Given the description of an element on the screen output the (x, y) to click on. 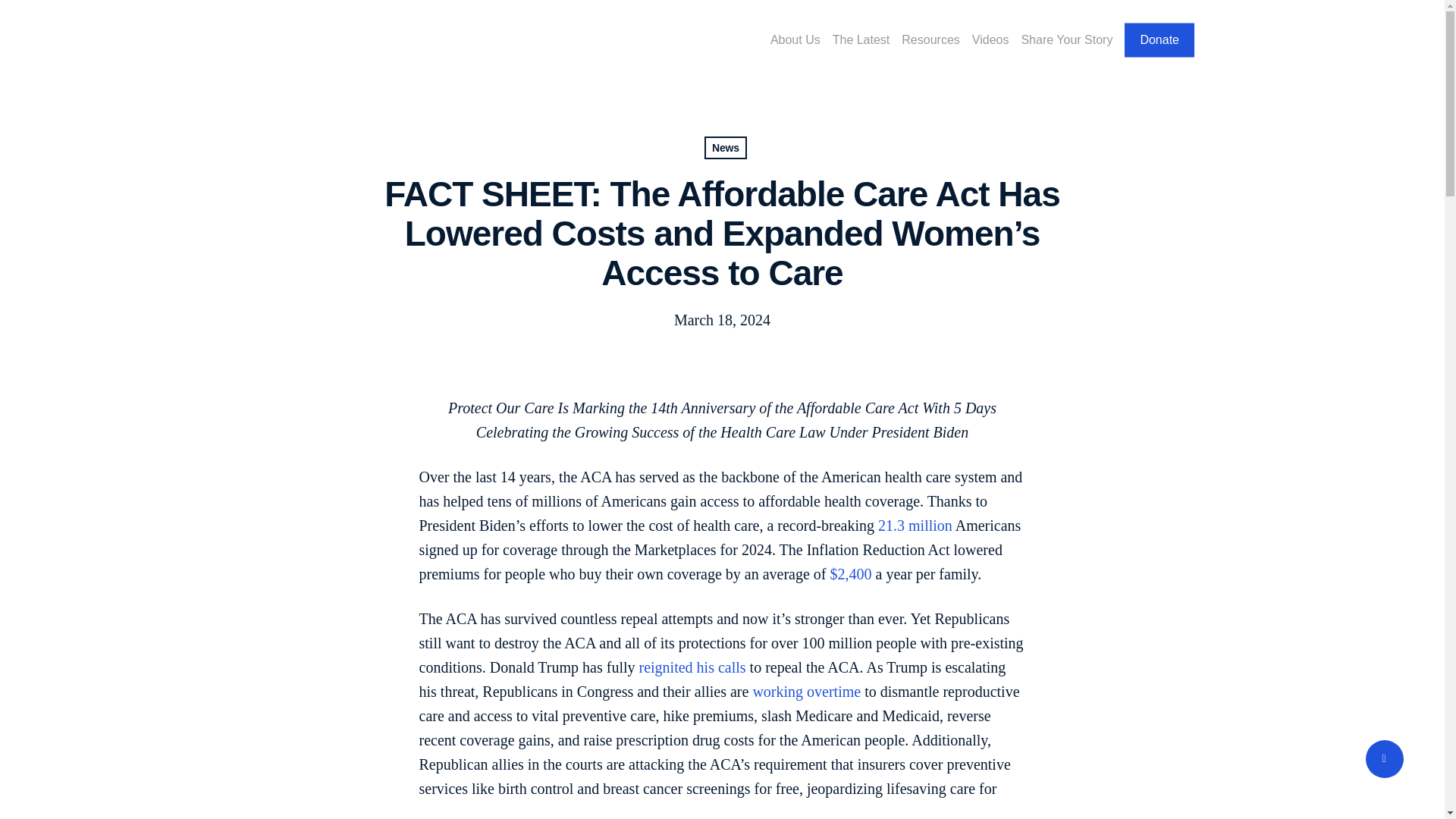
Donate (1158, 39)
News (725, 147)
here (649, 811)
reignited his calls (692, 667)
working overtime (806, 691)
Share Your Story (1066, 39)
Videos (990, 39)
21.3 million (914, 524)
Resources (930, 39)
About Us (795, 39)
The Latest (860, 39)
